Given the description of an element on the screen output the (x, y) to click on. 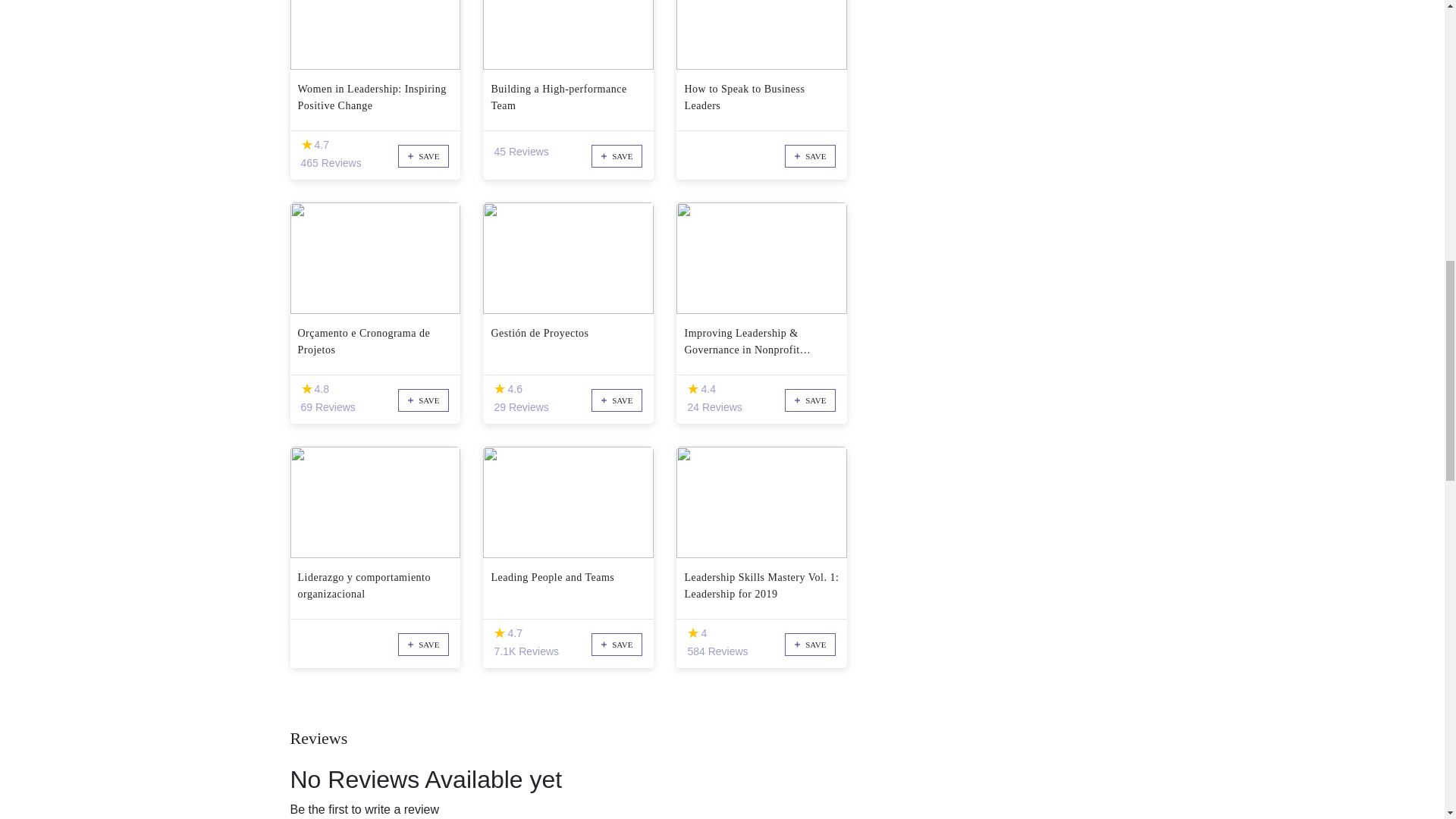
4 (692, 633)
4.4 (692, 389)
4.7 (306, 144)
4.8 (306, 389)
4.6 (499, 389)
4.7 (499, 633)
